Given the description of an element on the screen output the (x, y) to click on. 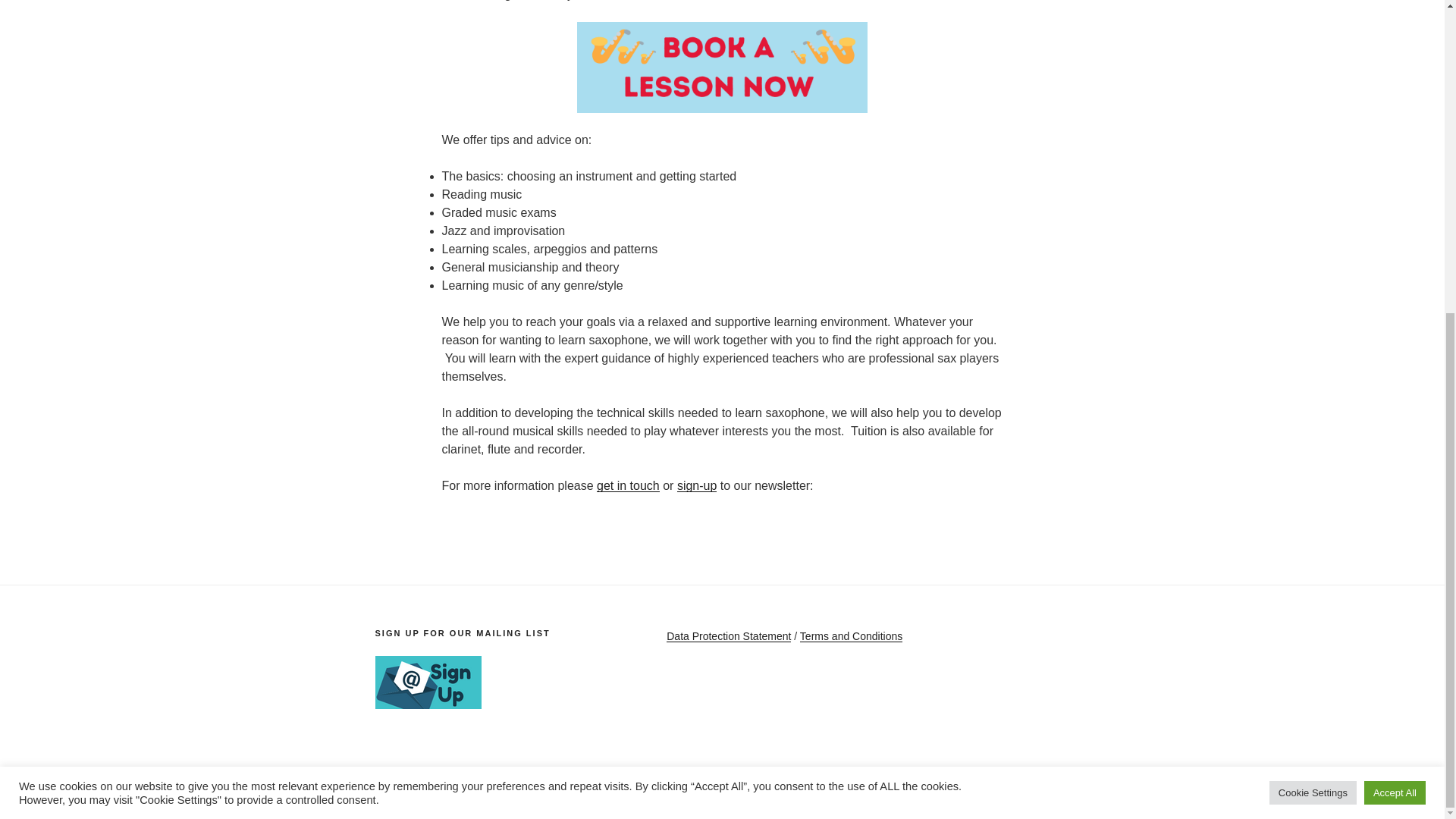
Facebook (389, 781)
Data Protection Statement (728, 635)
Cookie Settings (1312, 292)
Twitter (435, 781)
Email (480, 781)
sign-up (696, 485)
Accept All (1394, 292)
Terms and Conditions (850, 635)
get in touch (627, 485)
Privacy Policy (527, 781)
